Given the description of an element on the screen output the (x, y) to click on. 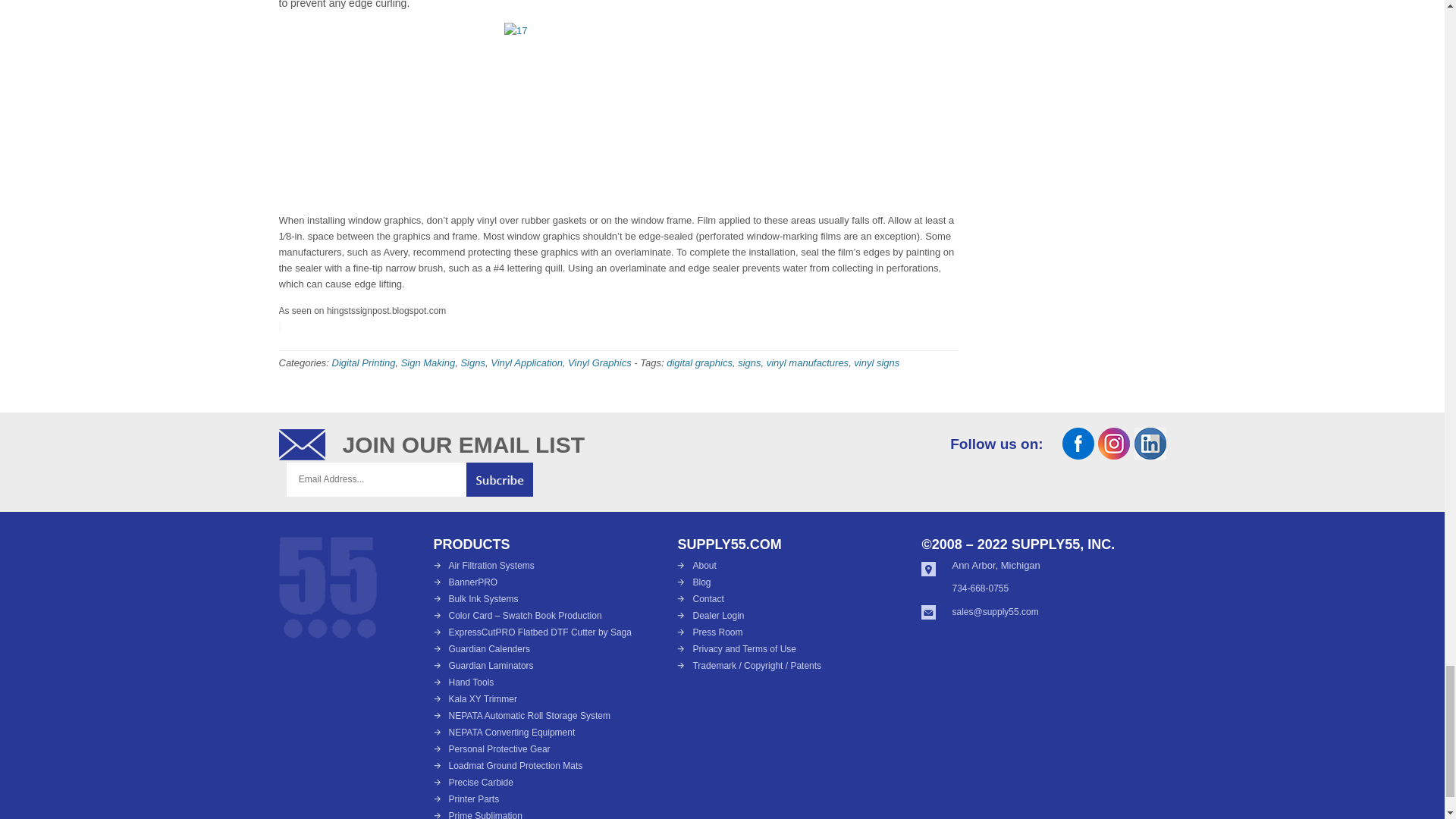
linkedin (1150, 454)
Facebook (1078, 454)
Instagram (1113, 454)
